Given the description of an element on the screen output the (x, y) to click on. 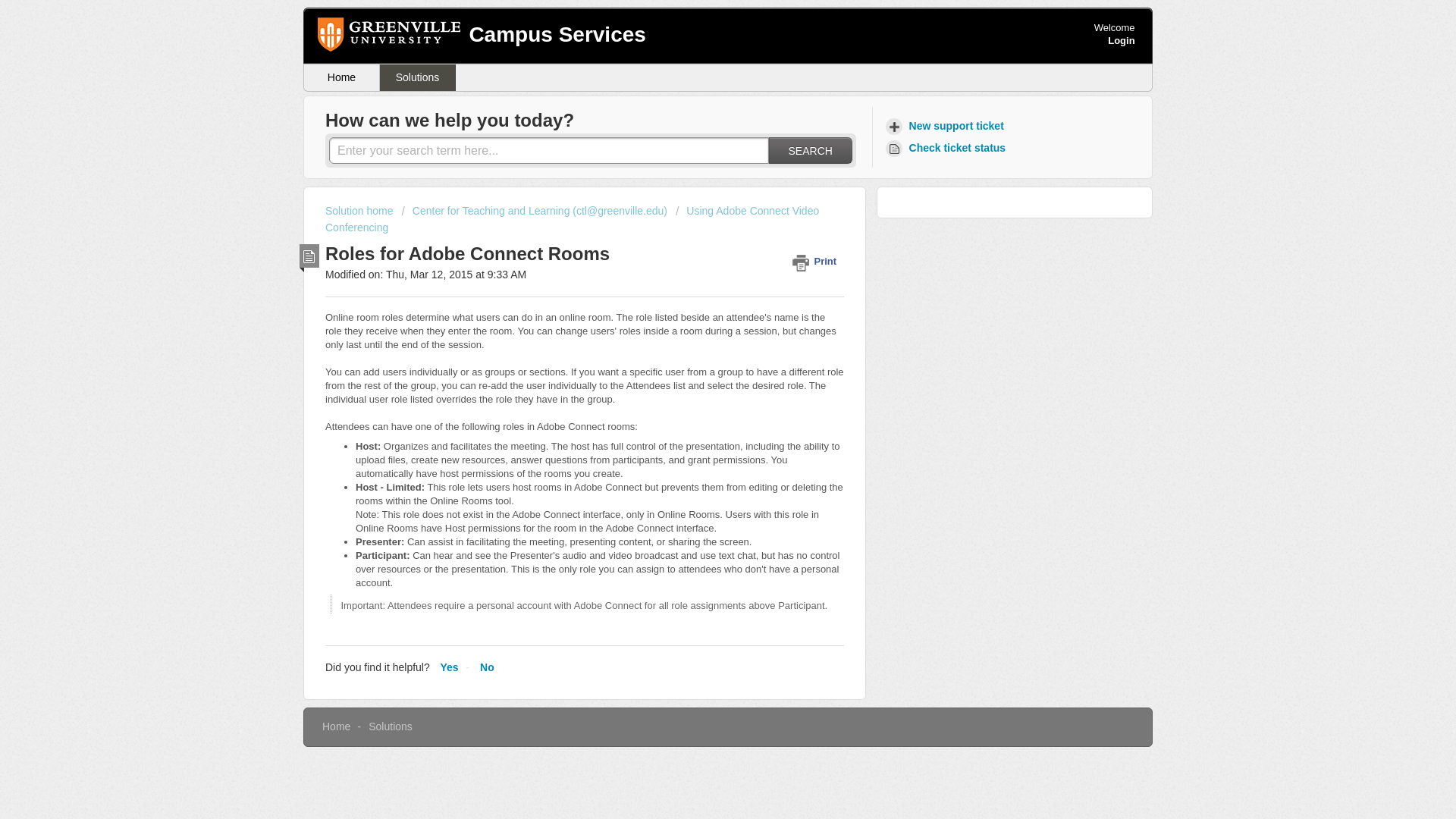
Using Adobe Connect Video Conferencing (571, 218)
Check ticket status (947, 147)
Home (335, 726)
Print (818, 261)
Home (342, 77)
Print this Article (818, 261)
SEARCH (809, 150)
Check ticket status (947, 147)
New support ticket (946, 126)
Login (1121, 40)
